Given the description of an element on the screen output the (x, y) to click on. 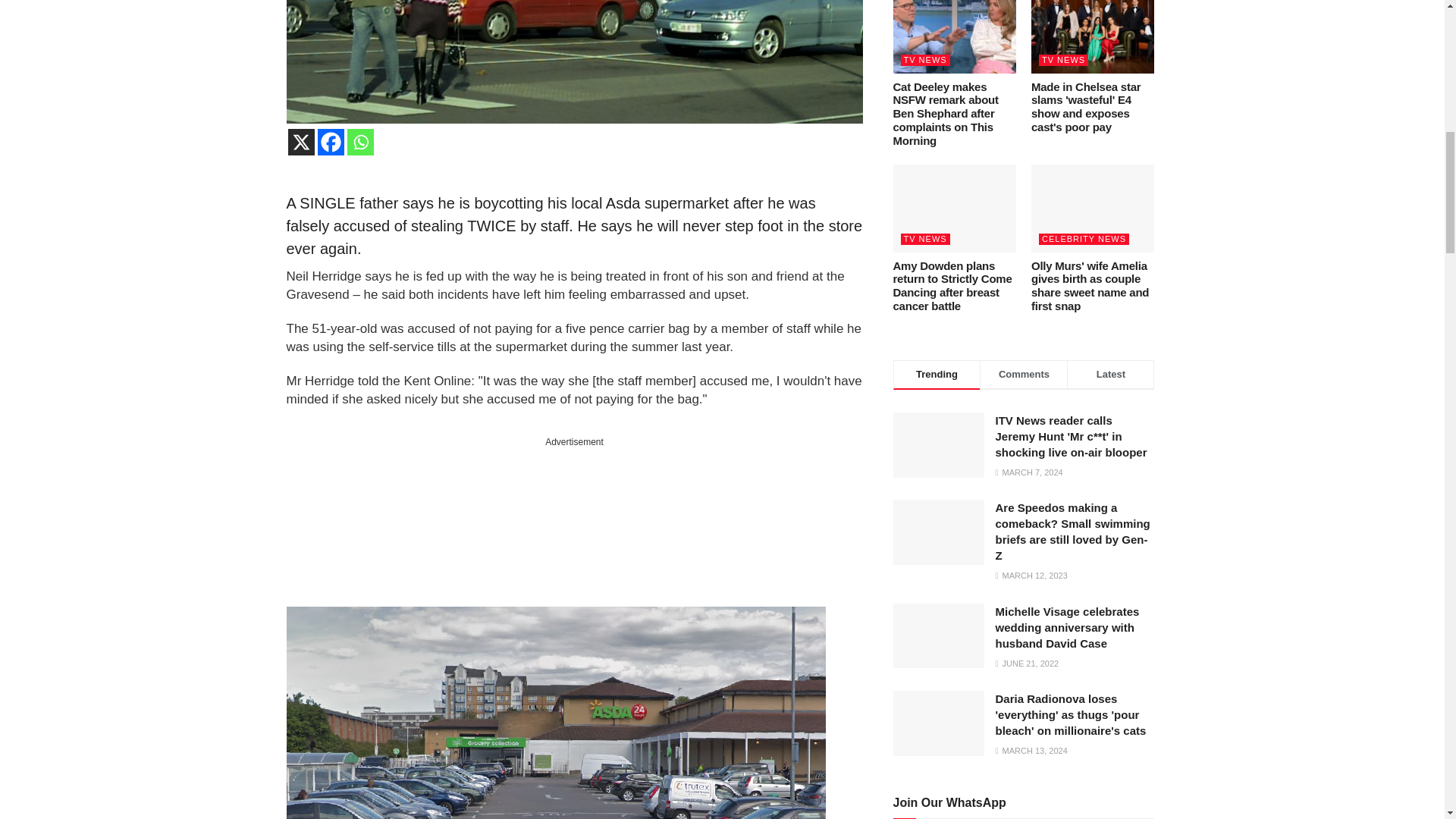
Whatsapp (360, 141)
Facebook (330, 141)
X (301, 141)
